Given the description of an element on the screen output the (x, y) to click on. 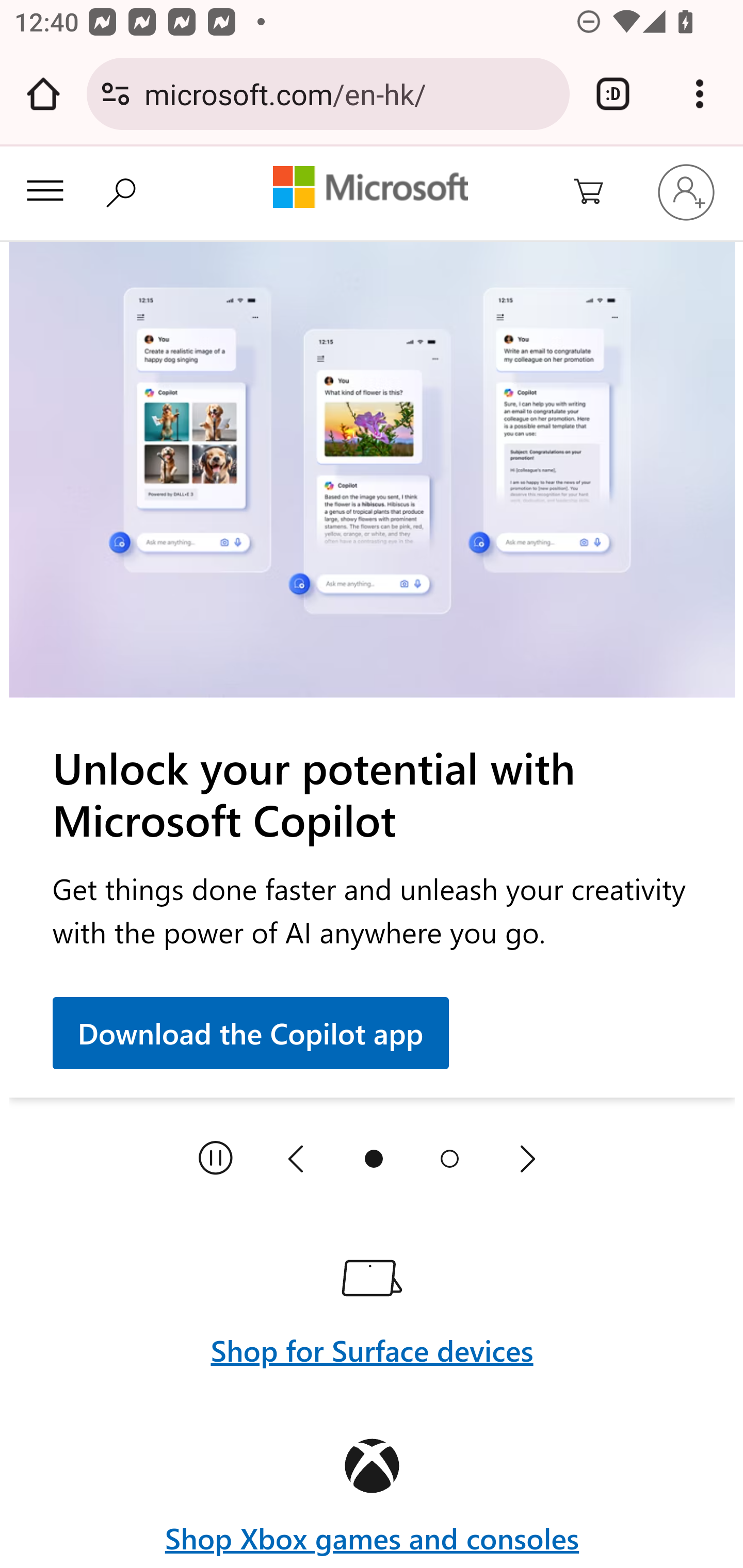
Open the home page (43, 93)
Connection is secure (115, 93)
Switch or close tabs (612, 93)
Customize and control Google Chrome (699, 93)
microsoft.com/en-hk/ (349, 92)
Microsoft (370, 188)
0 items in shopping cart  (600, 192)
Sign in to your account (686, 191)
Search Microsoft.com (126, 191)
Pause (216, 1158)
Previous  (296, 1158)
Next  (526, 1158)
Shop for Surface devices (371, 1350)
Shop Xbox games and consoles (371, 1538)
